Given the description of an element on the screen output the (x, y) to click on. 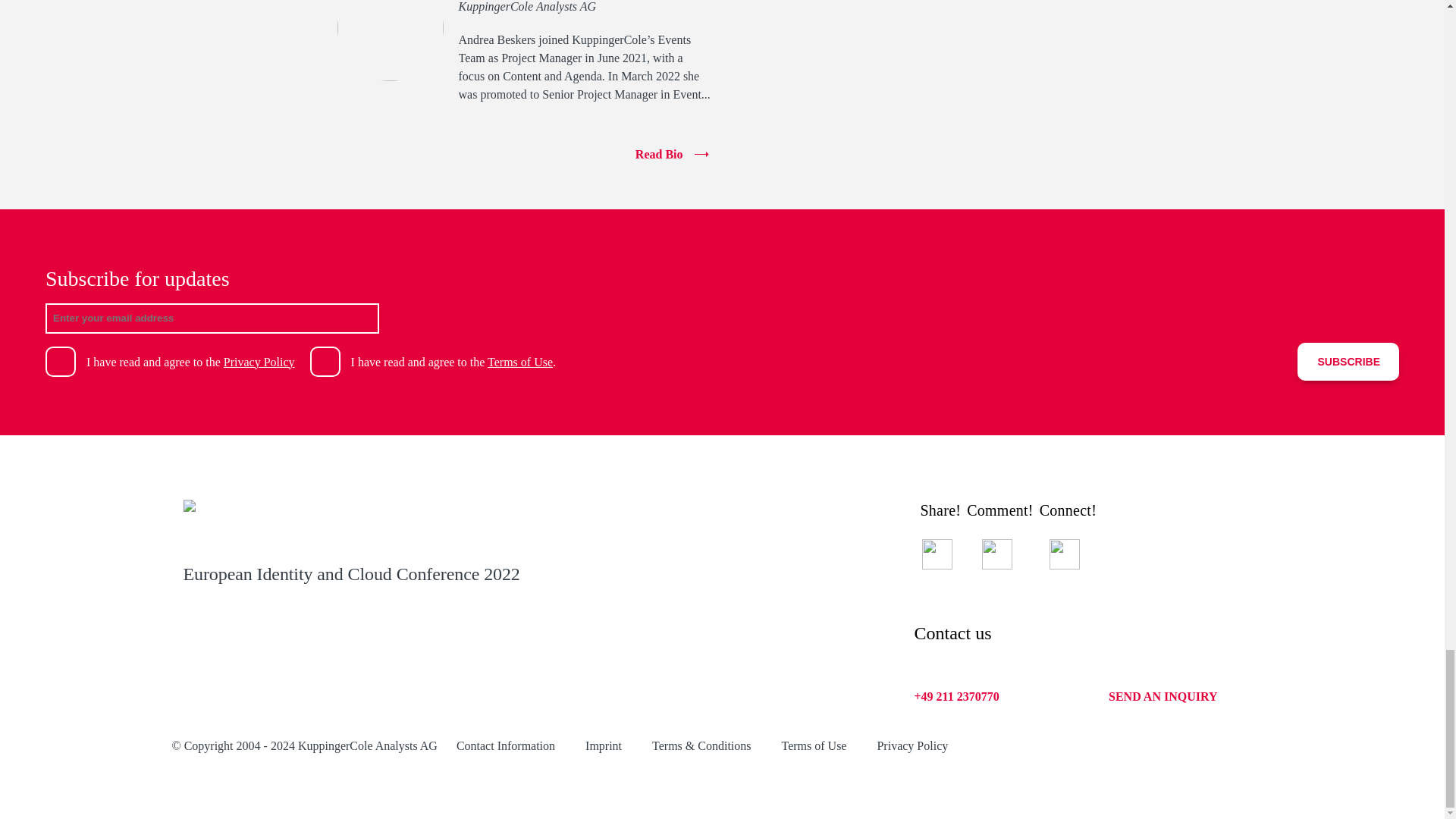
Read Bio (523, 153)
Terms of Use (812, 745)
Contact Information (505, 745)
Privacy Policy (259, 361)
Terms of Use (520, 361)
Privacy Policy (911, 745)
Imprint (603, 745)
SUBSCRIBE (1348, 361)
SEND AN INQUIRY (1162, 696)
